Given the description of an element on the screen output the (x, y) to click on. 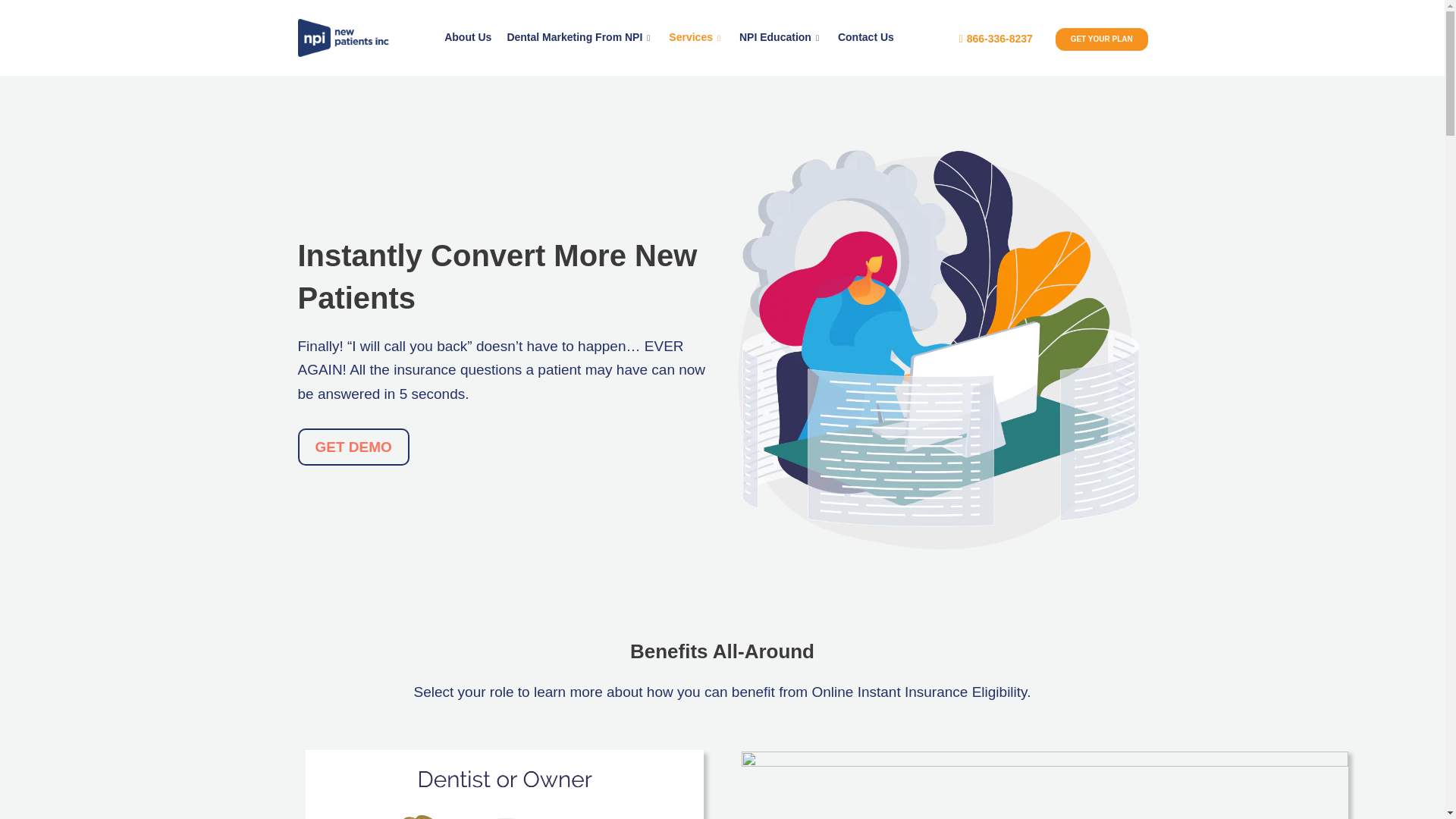
Services (696, 37)
Dental Marketing From NPI (580, 37)
About Us (467, 37)
